Given the description of an element on the screen output the (x, y) to click on. 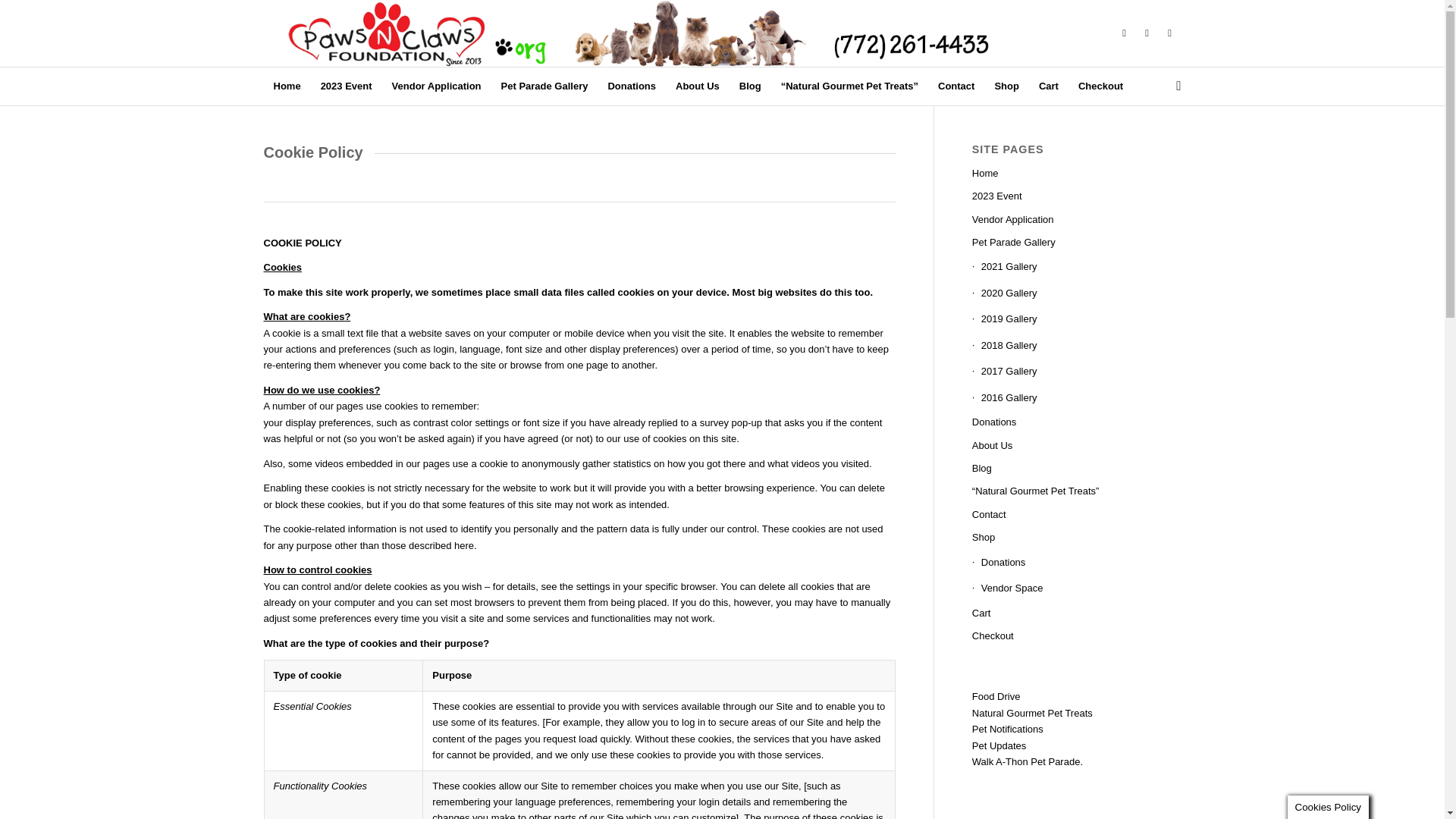
Vendor Application (1076, 219)
Pet Parade Gallery (545, 86)
Home (1076, 173)
Facebook (1124, 33)
Donations (630, 86)
Contact (956, 86)
Checkout (1100, 86)
About Us (697, 86)
2021 Gallery (1076, 266)
Vendor Application (436, 86)
Home (287, 86)
Gplus (1146, 33)
2023 Event (1076, 196)
2023 Event (346, 86)
Gplus (1169, 33)
